Given the description of an element on the screen output the (x, y) to click on. 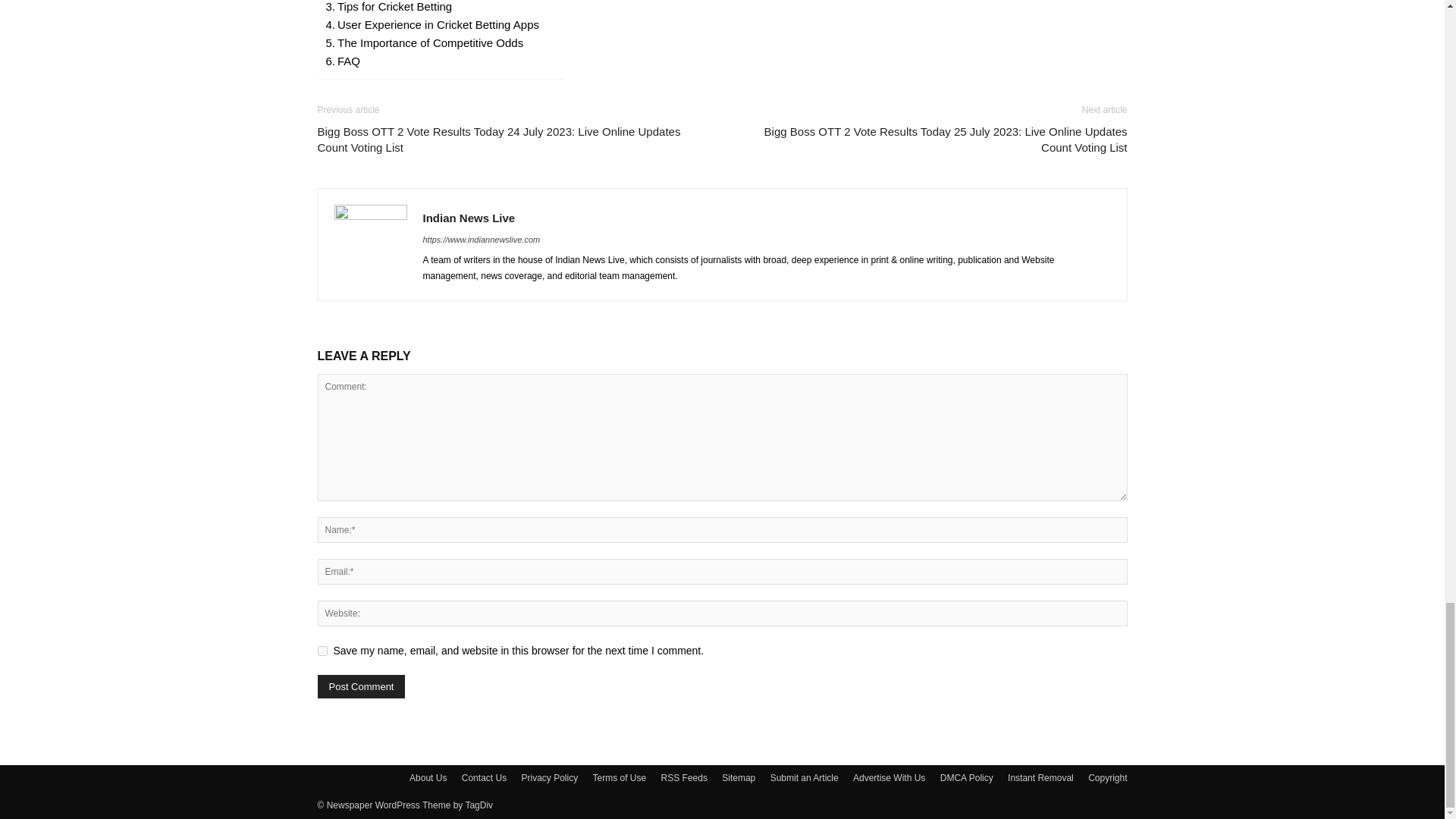
Post Comment (360, 686)
yes (321, 651)
User Experience in Cricket Betting Apps (432, 24)
Tips for Cricket Betting (389, 7)
The Importance of Competitive Odds (425, 43)
FAQ (343, 61)
